Given the description of an element on the screen output the (x, y) to click on. 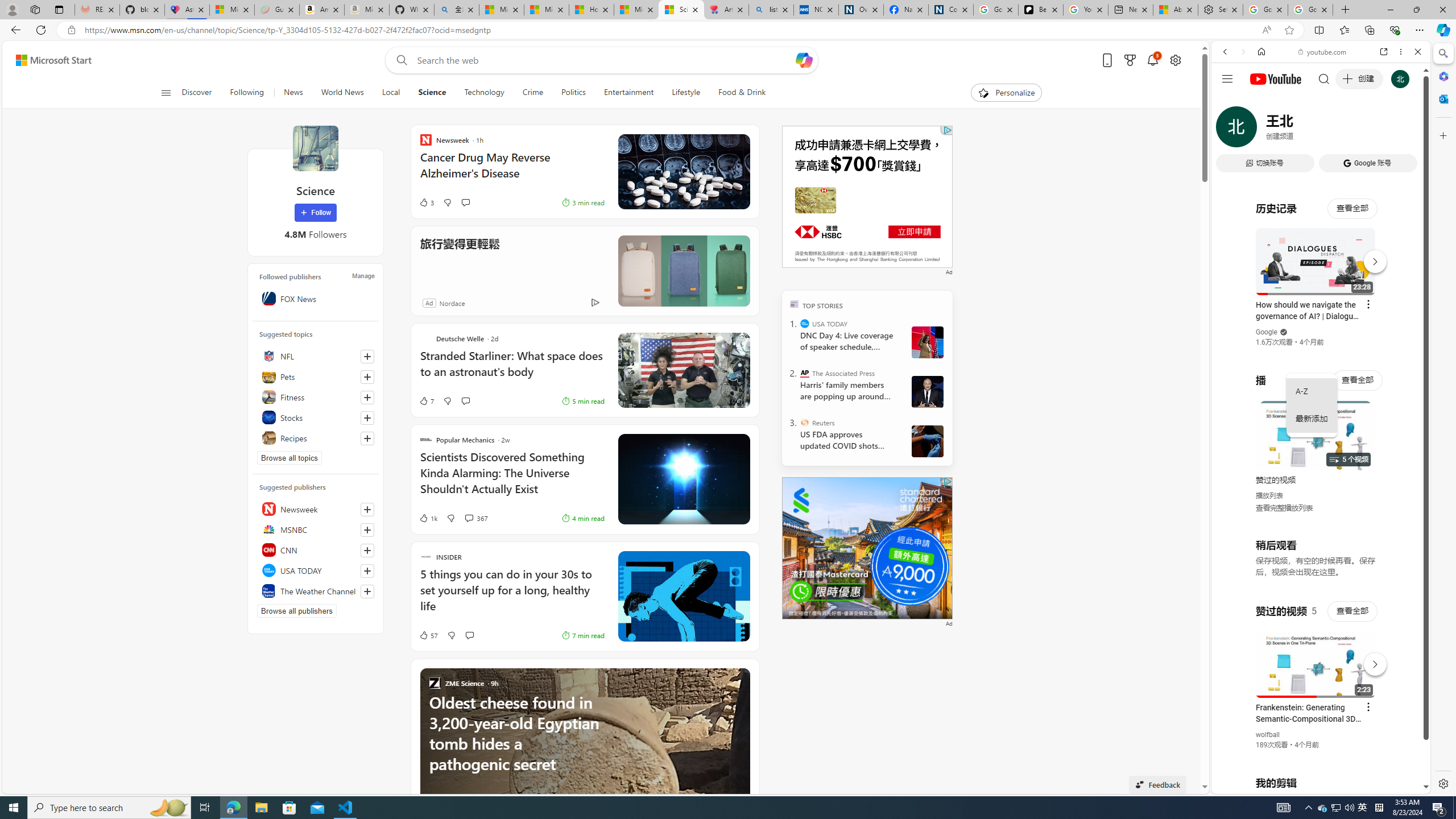
Follow this topic (367, 438)
Crime (532, 92)
Enter your search term (603, 59)
Search Filter, IMAGES (1262, 129)
FOX News (315, 298)
